Given the description of an element on the screen output the (x, y) to click on. 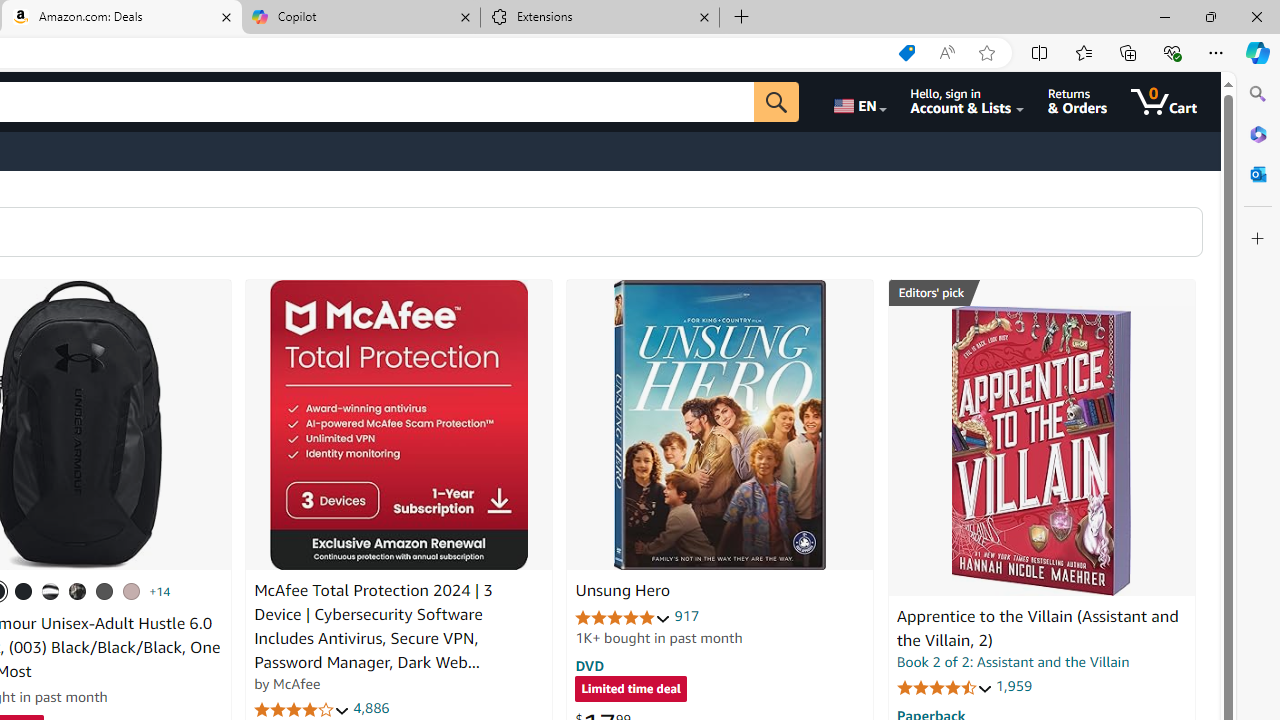
917 (687, 616)
4,886 (371, 708)
4.6 out of 5 stars (944, 686)
Extensions (600, 17)
Minimize (1164, 16)
(002) Black / Black / White (51, 591)
4.9 out of 5 stars (623, 616)
Unsung Hero (622, 591)
(001) Black / Black / Metallic Gold (24, 591)
(005) Black Full Heather / Black / Metallic Gold (104, 591)
(004) Black / Black / Metallic Gold (78, 591)
Unsung Hero (720, 425)
Read aloud this page (Ctrl+Shift+U) (946, 53)
Customize (1258, 239)
